Given the description of an element on the screen output the (x, y) to click on. 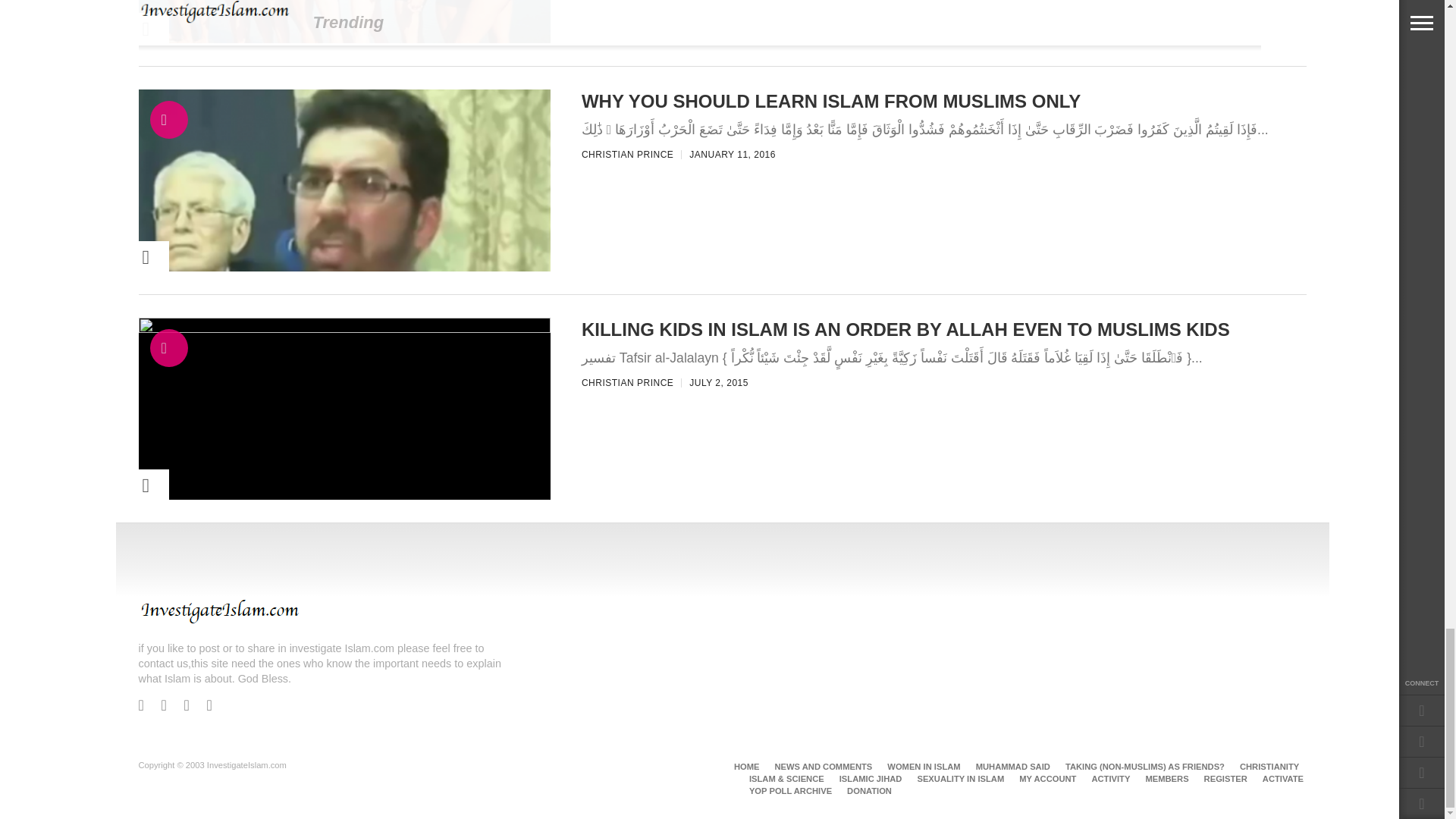
Pin This Post (122, 29)
Pin This Post (122, 256)
Why you should learn Islam from Muslims only (344, 332)
